Given the description of an element on the screen output the (x, y) to click on. 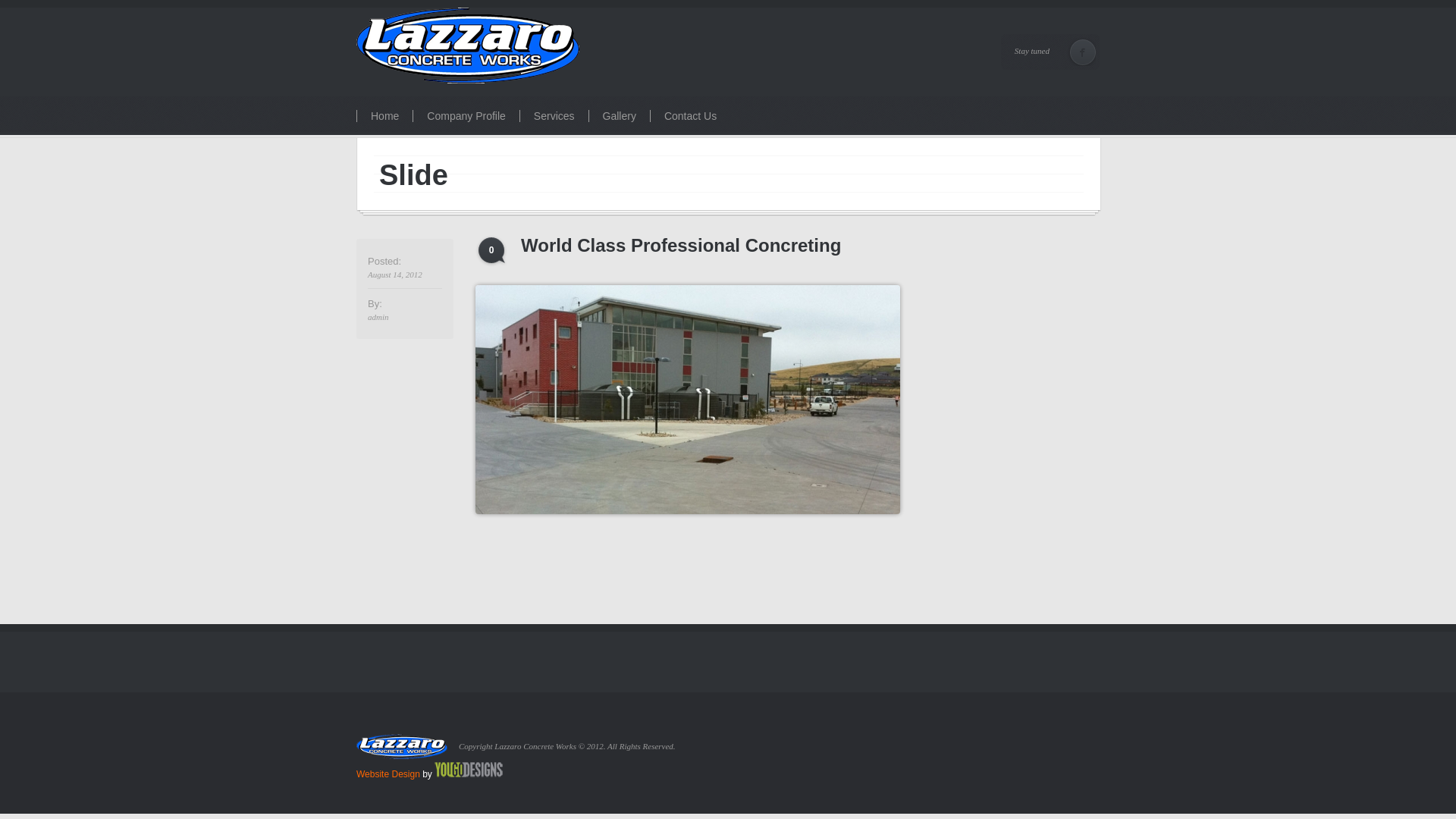
Website Design Element type: text (388, 773)
Gallery Element type: text (618, 115)
admin Element type: text (404, 316)
World Class Professional Concreting Element type: text (710, 245)
Home Element type: text (384, 115)
Contact Us Element type: text (689, 115)
Website Design By You Go Designs Element type: hover (468, 773)
World Class Professional Concreting Element type: hover (687, 399)
Company Profile Element type: text (465, 115)
Services Element type: text (553, 115)
